Given the description of an element on the screen output the (x, y) to click on. 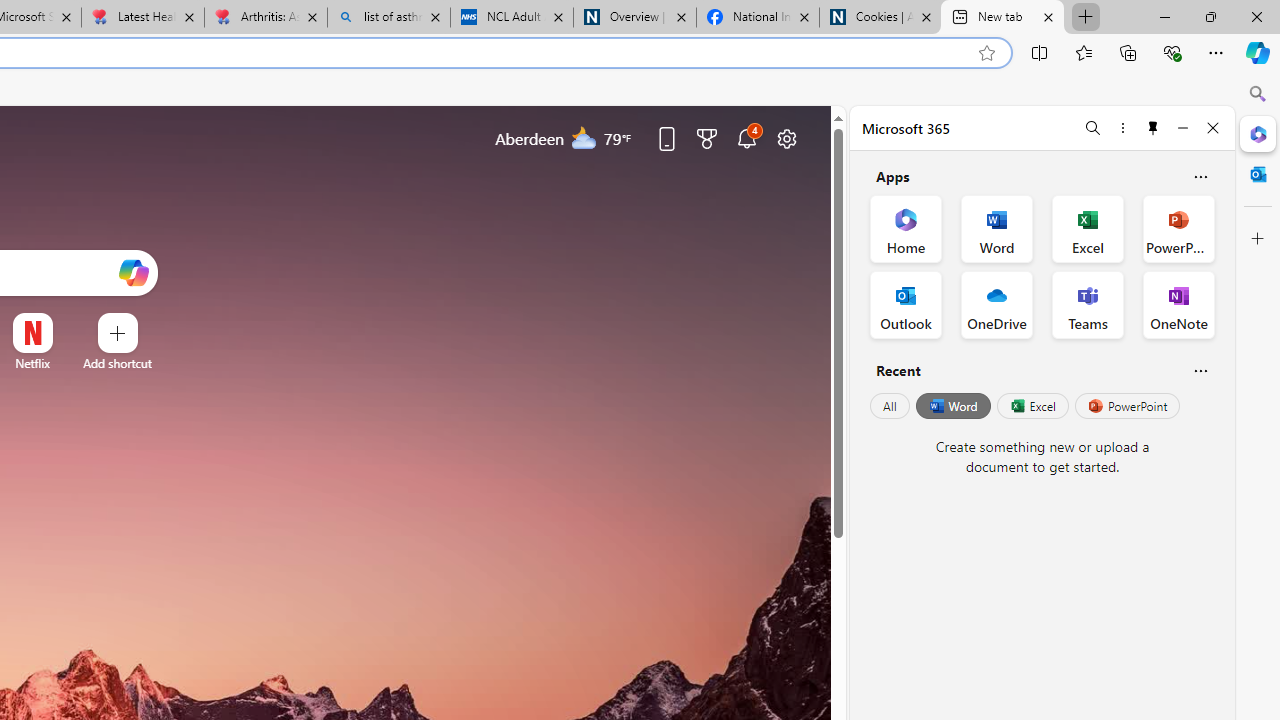
Netflix (32, 363)
Outlook Office App (906, 304)
Word (952, 406)
Word Office App (996, 228)
Teams Office App (1087, 304)
